Given the description of an element on the screen output the (x, y) to click on. 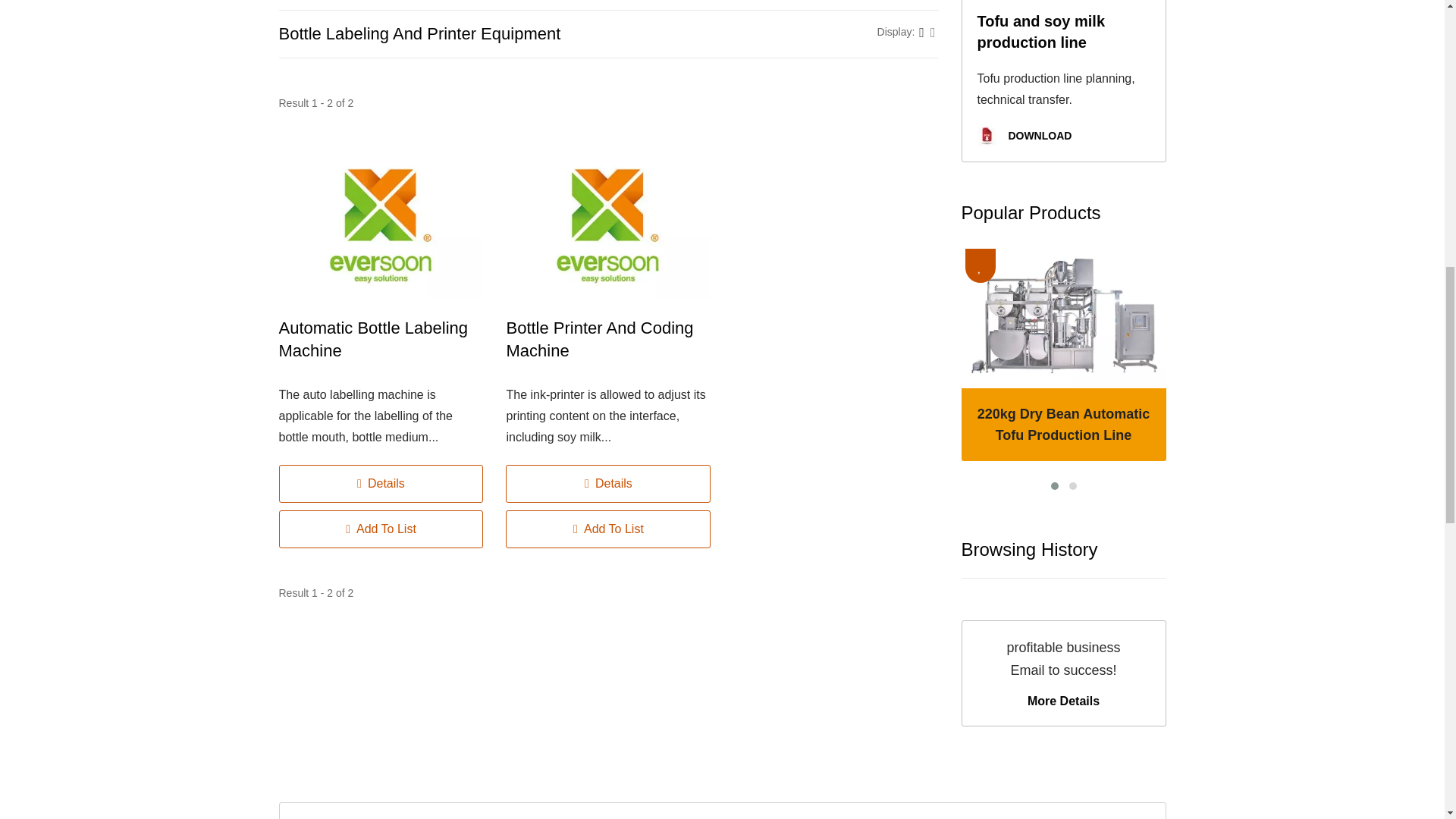
Add to List (607, 528)
Details (607, 483)
Add to List (381, 528)
Details (381, 483)
